Given the description of an element on the screen output the (x, y) to click on. 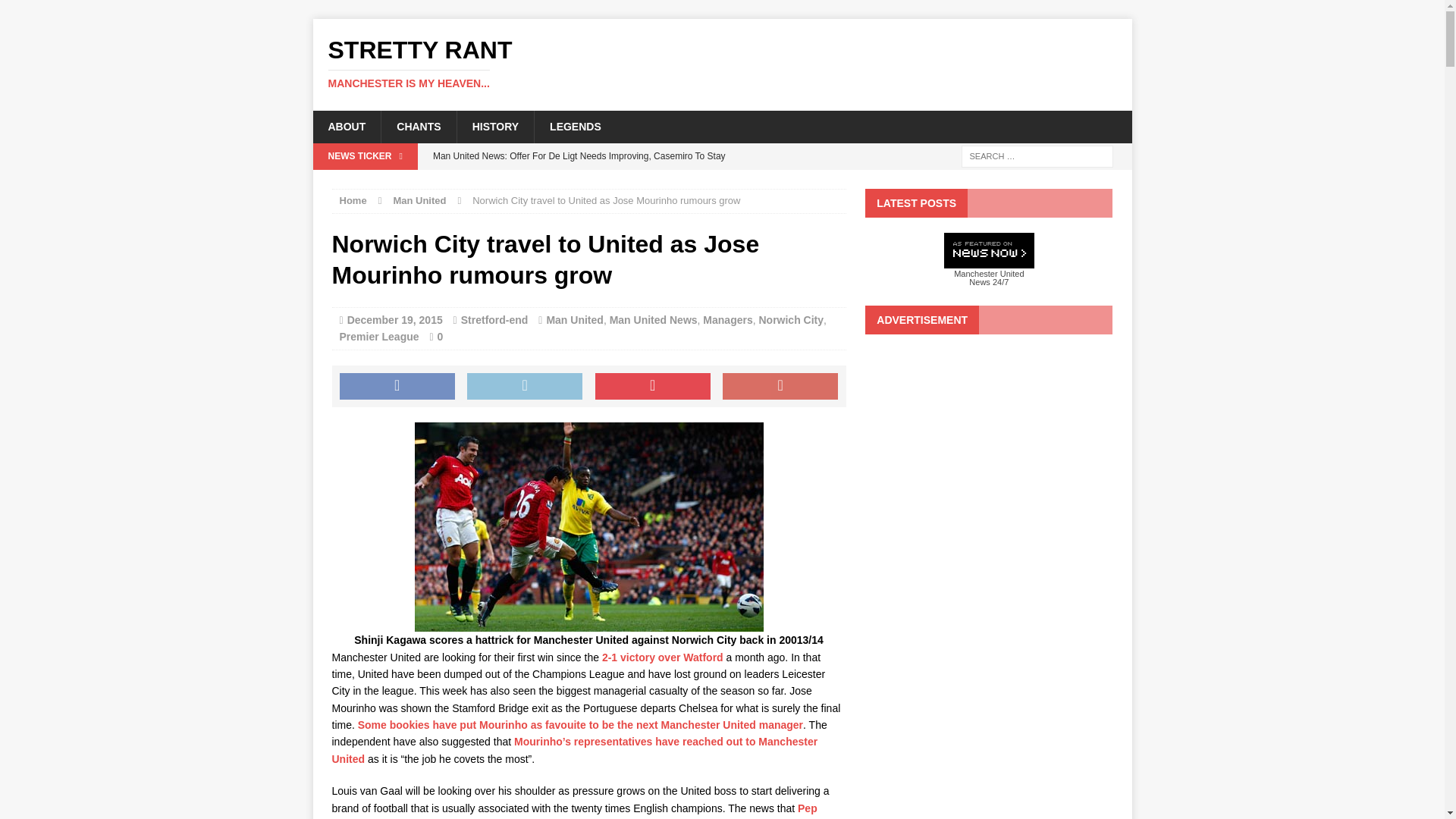
LEGENDS (574, 126)
Pin This Post (652, 386)
Stretty Rant (722, 64)
Stretford-end (494, 319)
Tweet This Post (524, 386)
Home (352, 200)
Share on Facebook (722, 64)
ABOUT (396, 386)
Man United (346, 126)
Managers (574, 319)
Man United (727, 319)
Search (419, 200)
December 19, 2015 (37, 11)
